Given the description of an element on the screen output the (x, y) to click on. 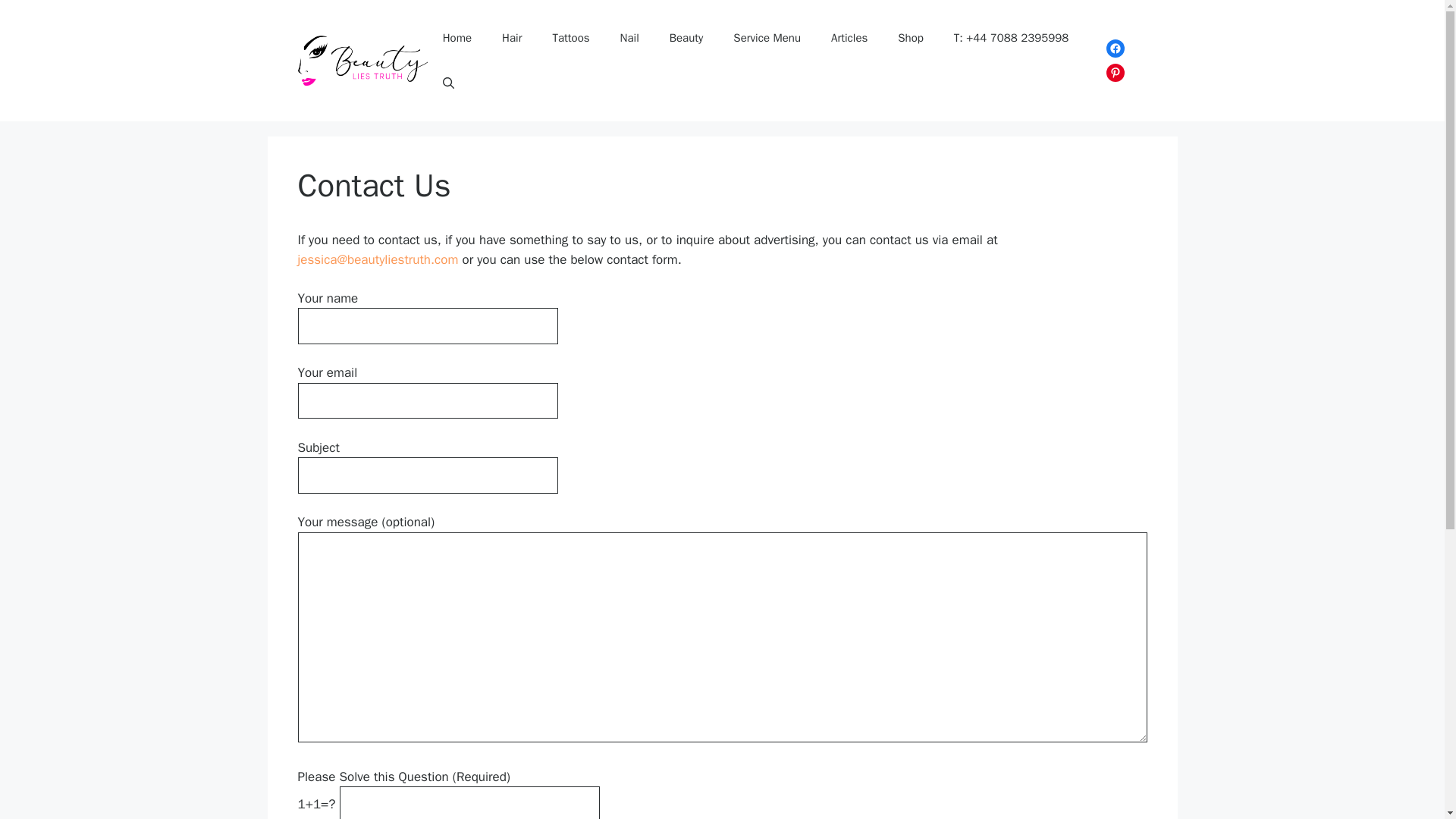
Facebook (1115, 48)
Pinterest (1115, 72)
Home (457, 37)
Shop (910, 37)
Nail (629, 37)
Tattoos (570, 37)
Hair (511, 37)
Service Menu (766, 37)
Beauty (686, 37)
Articles (848, 37)
